Given the description of an element on the screen output the (x, y) to click on. 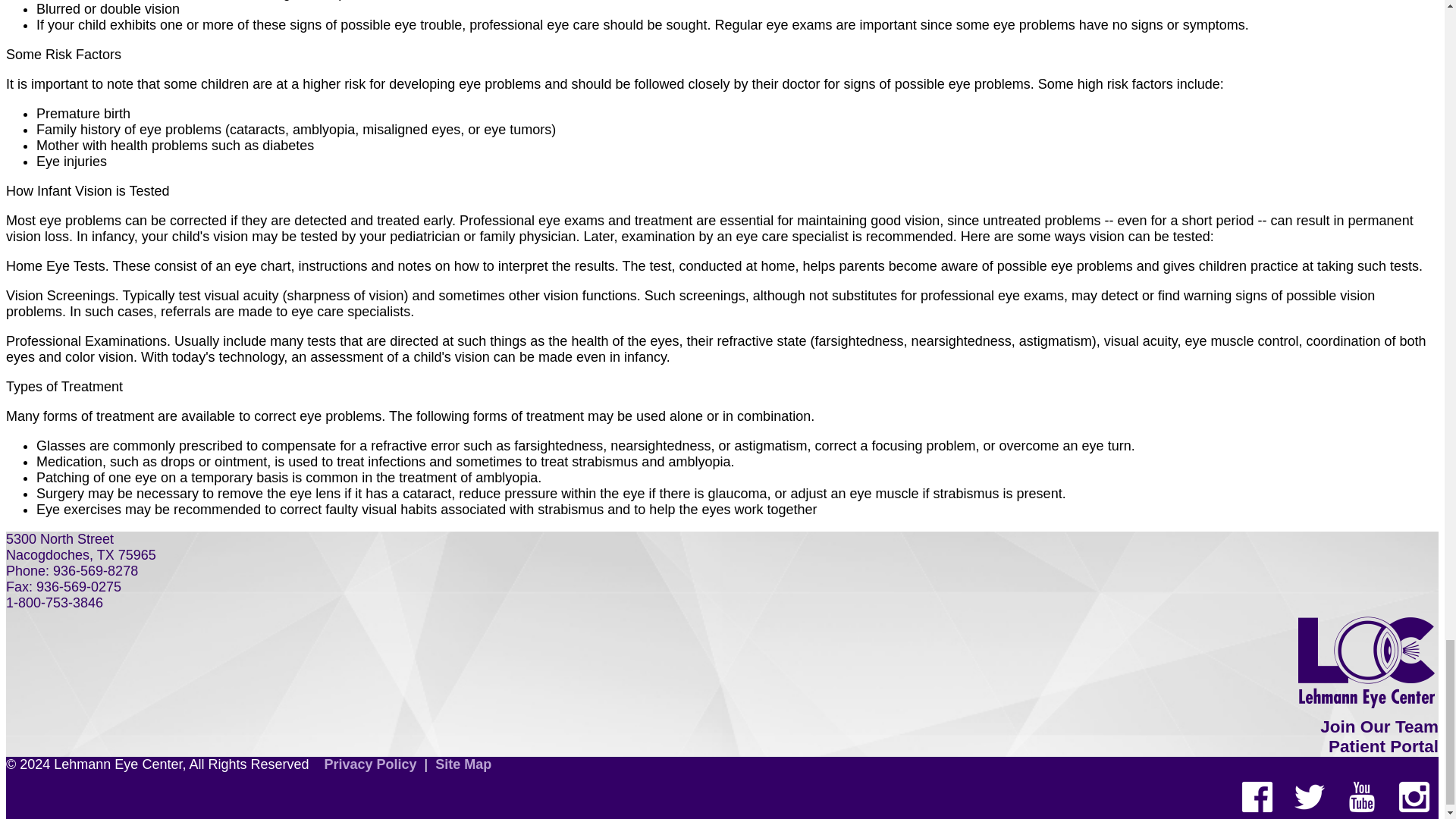
Privacy Policy (370, 764)
Site Map (463, 764)
